Given the description of an element on the screen output the (x, y) to click on. 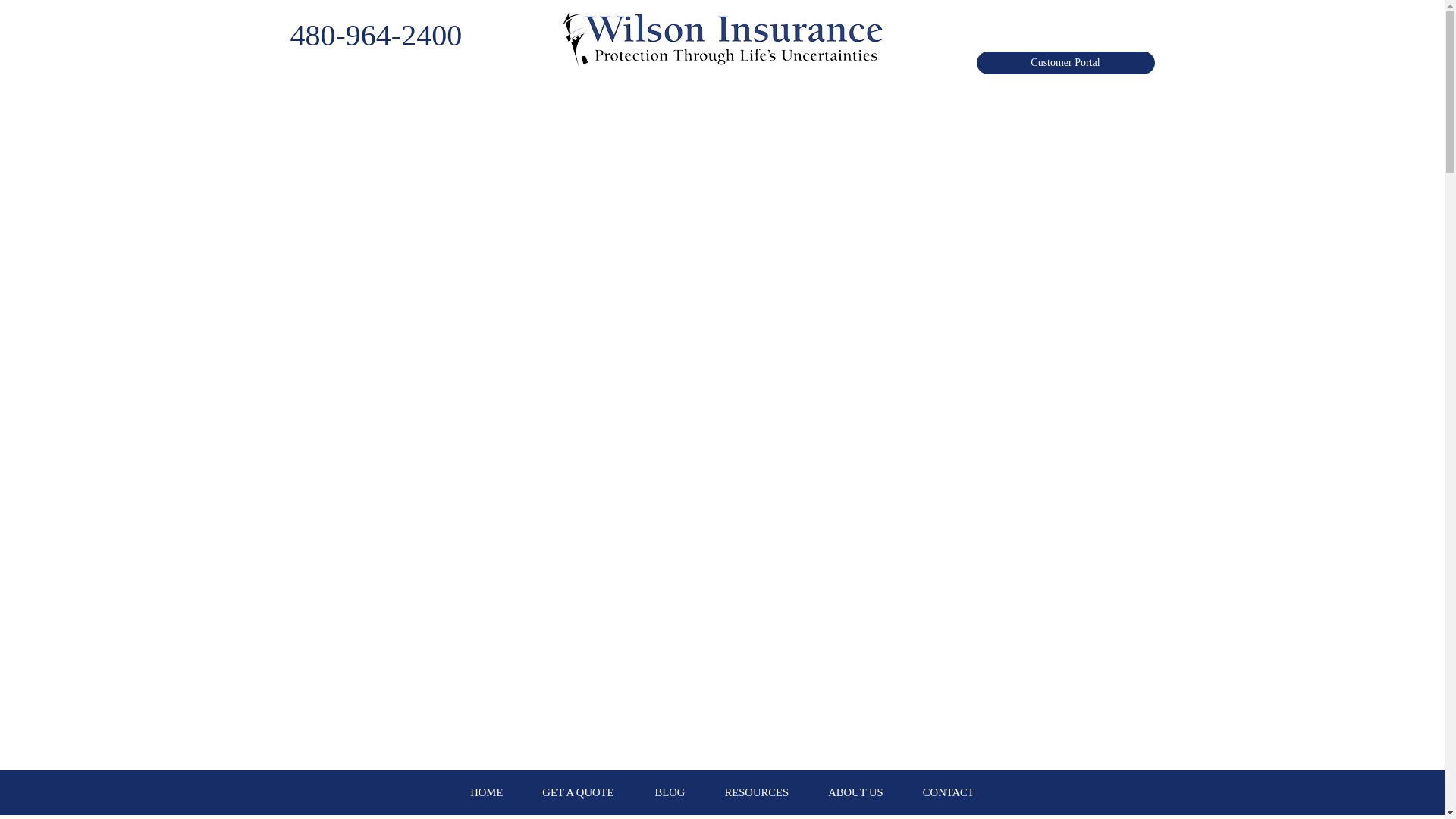
480-964-2400 (375, 35)
BLOG (670, 791)
RESOURCES (756, 791)
Customer Portal (1065, 62)
CONTACT (948, 791)
GET A QUOTE (576, 791)
HOME (486, 791)
ABOUT US (855, 791)
